Given the description of an element on the screen output the (x, y) to click on. 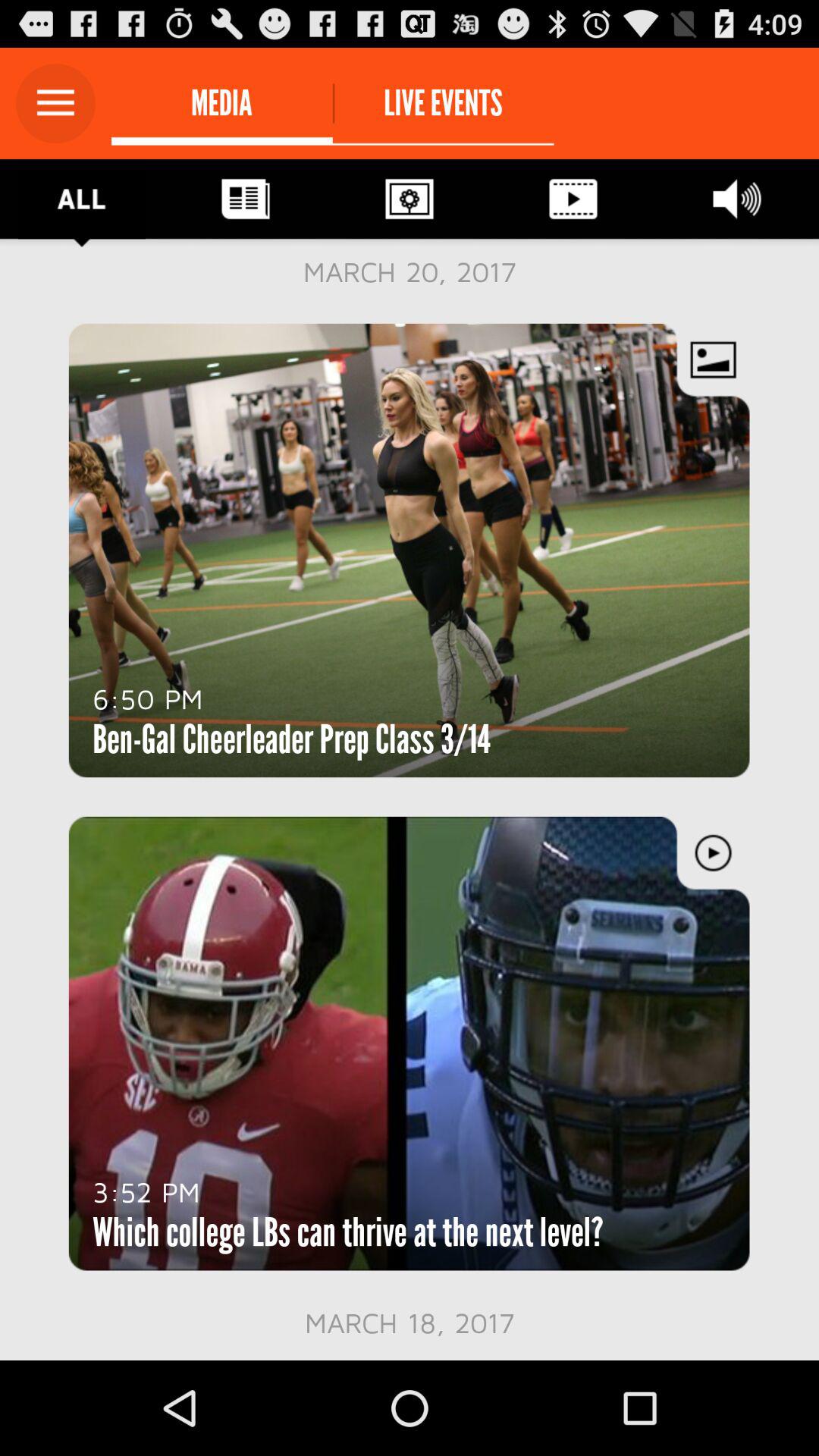
choose 6:50 pm item (147, 698)
